Given the description of an element on the screen output the (x, y) to click on. 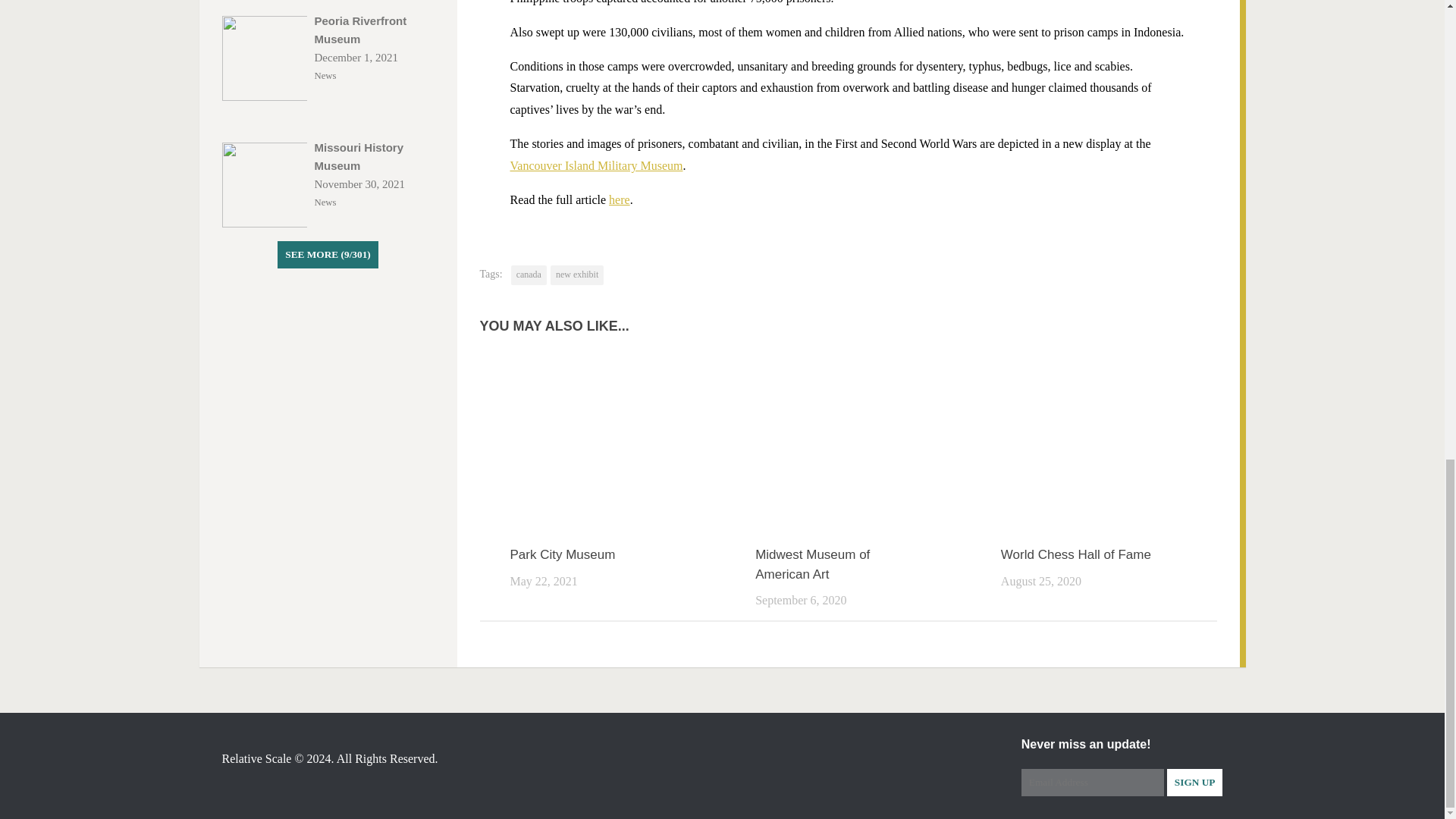
Permalink to World Chess Hall of Fame (1076, 554)
new exhibit (577, 275)
Vancouver Island Military Museum (595, 164)
Permalink to Midwest Museum of American Art (812, 564)
here (619, 199)
Park City Museum (561, 554)
World Chess Hall of Fame (1076, 554)
canada (529, 275)
Sign up (1195, 782)
Permalink to Park City Museum (561, 554)
